Given the description of an element on the screen output the (x, y) to click on. 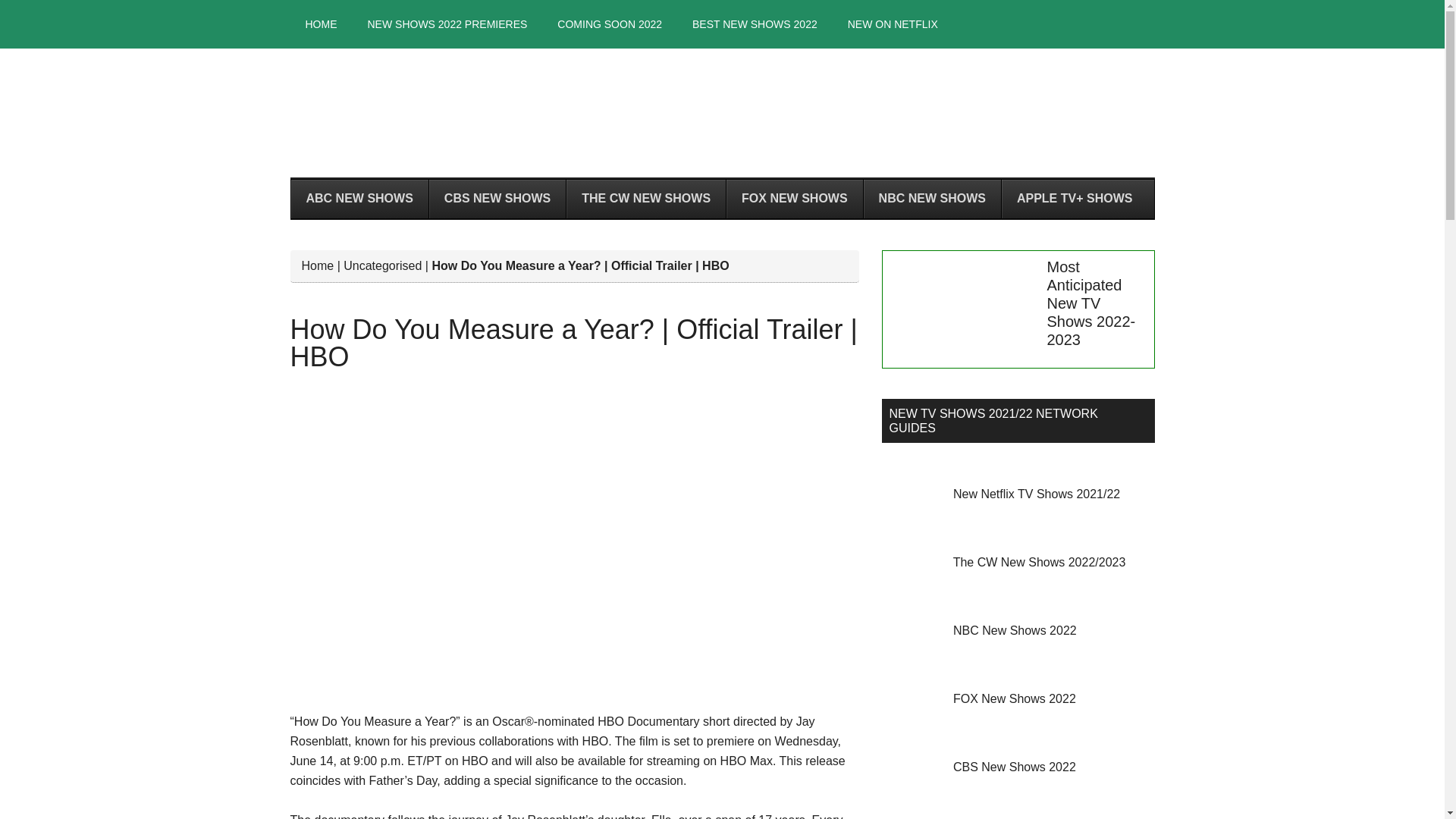
FOX New Shows 2022 (1014, 698)
BEST NEW SHOWS 2022 (754, 24)
THE CW NEW SHOWS (645, 198)
CBS NEW SHOWS (497, 198)
HOME (320, 24)
COMING SOON 2022 (609, 24)
Most Anticipated New TV Shows 2022-2023 (1090, 303)
Home (317, 265)
New Shows TV (721, 112)
